Given the description of an element on the screen output the (x, y) to click on. 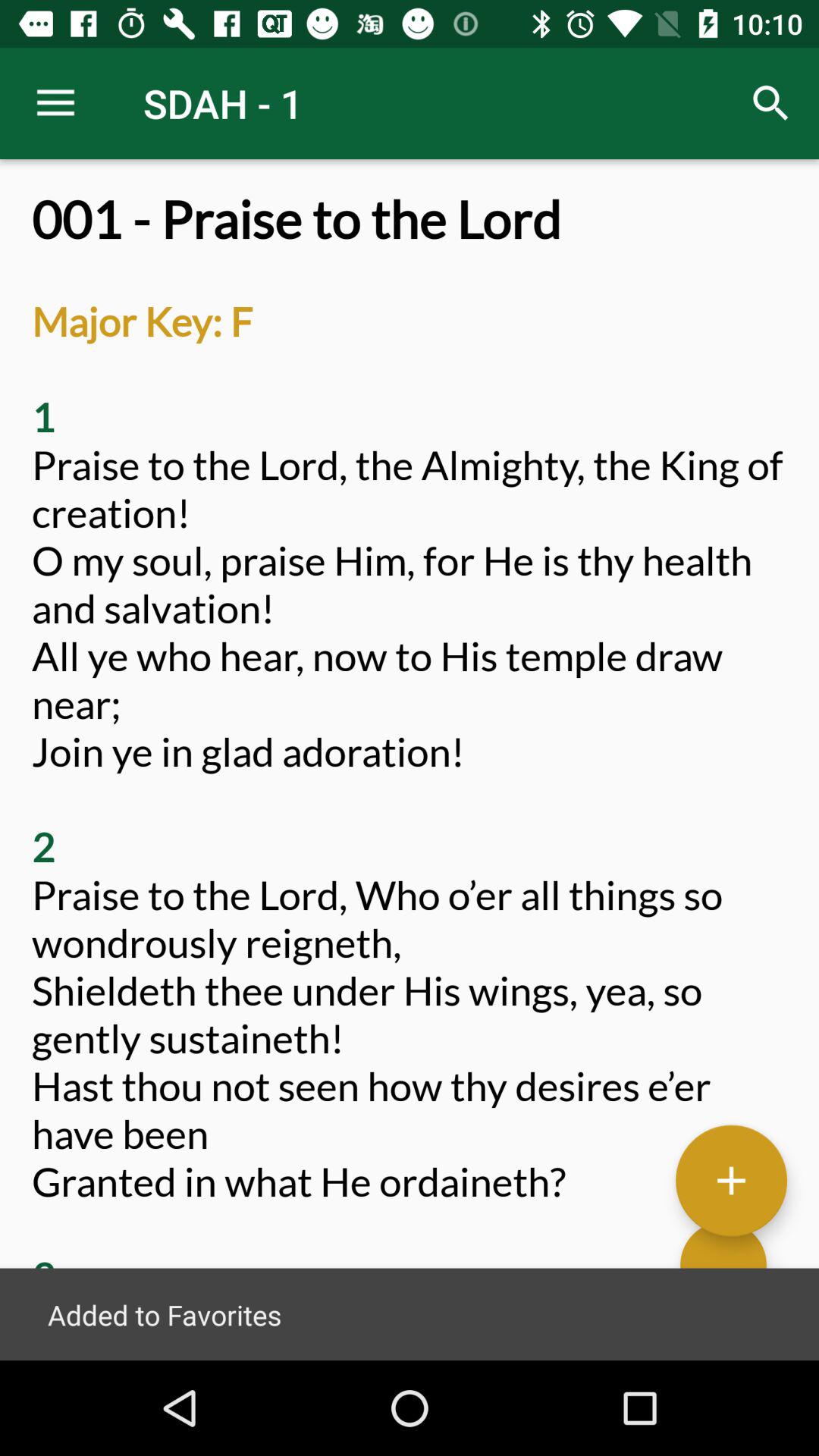
scroll to 001 praise to (409, 775)
